Given the description of an element on the screen output the (x, y) to click on. 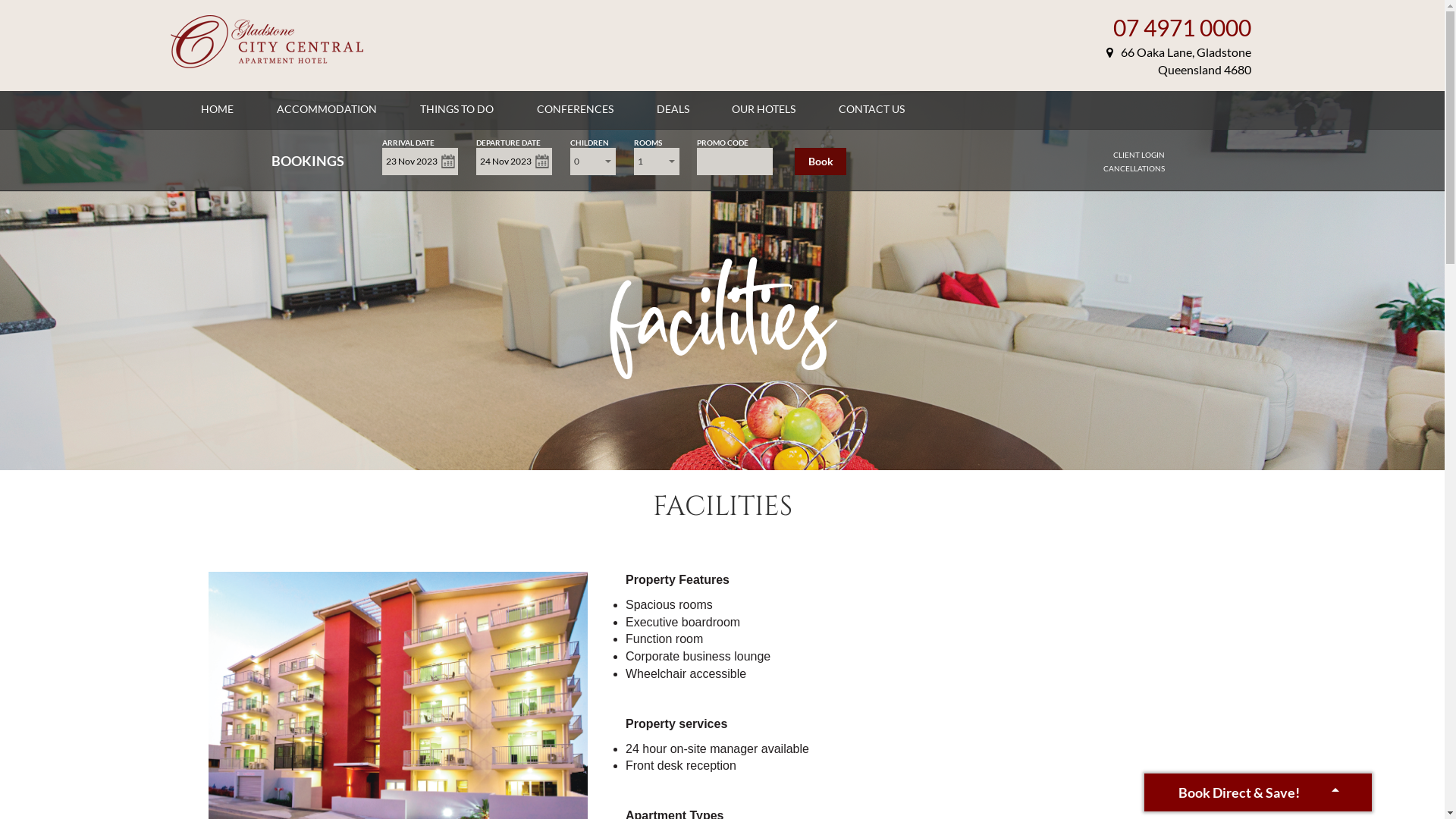
CONFERENCES Element type: text (574, 109)
ACCOMMODATION Element type: text (326, 109)
Book Element type: text (820, 161)
07 4971 0000 Element type: text (1182, 26)
HOME Element type: text (216, 109)
CANCELLATIONS Element type: text (1133, 167)
OUR HOTELS Element type: text (763, 109)
CLIENT LOGIN Element type: text (1138, 154)
66 Oaka Lane, Gladstone
Queensland 4680 Element type: text (1178, 60)
THINGS TO DO Element type: text (456, 109)
CONTACT US Element type: text (871, 109)
DEALS Element type: text (672, 109)
